Given the description of an element on the screen output the (x, y) to click on. 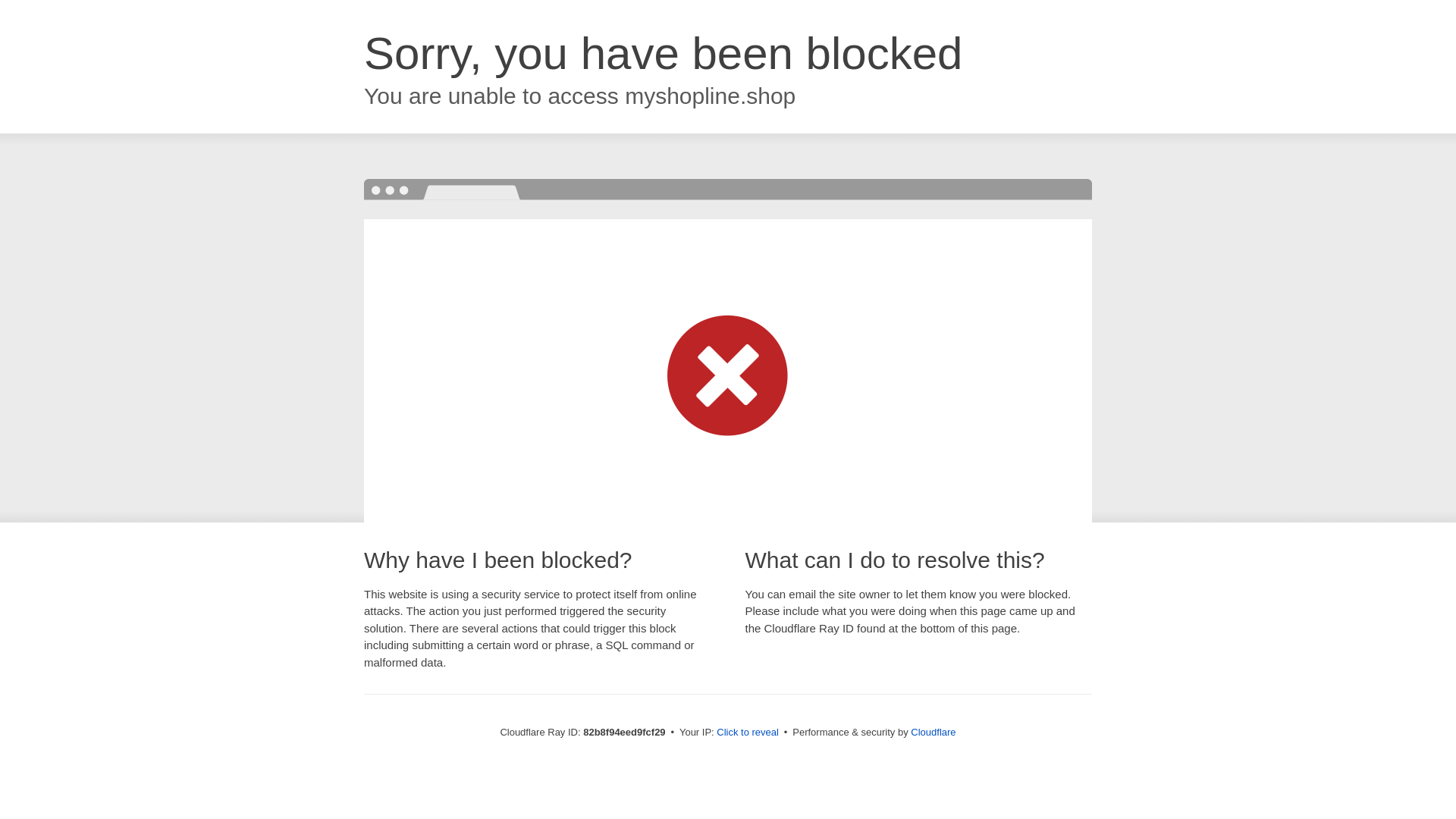
Cloudflare Element type: text (932, 731)
Click to reveal Element type: text (747, 732)
